Given the description of an element on the screen output the (x, y) to click on. 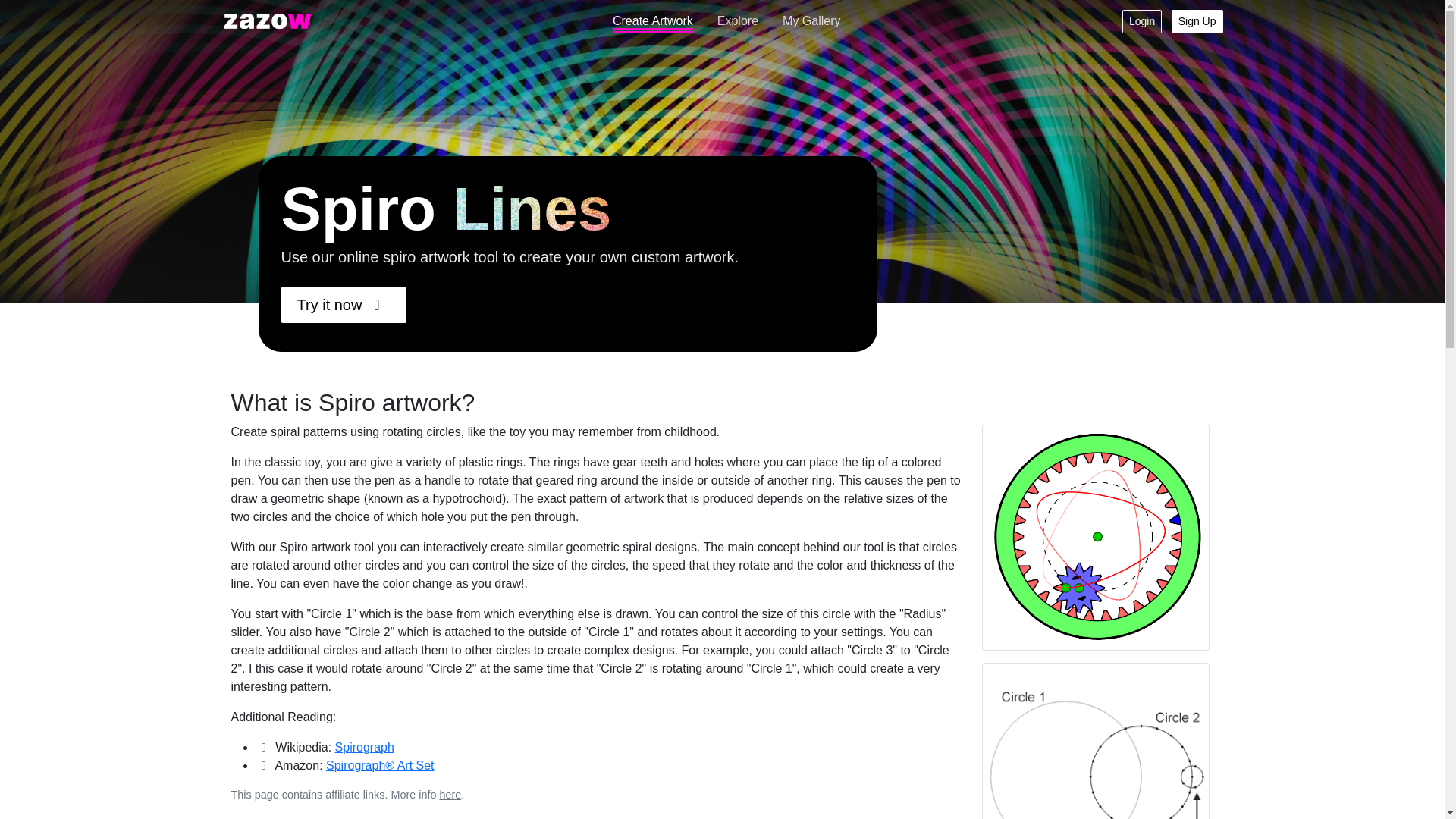
Explore (737, 20)
Try it now (343, 304)
My Gallery (810, 20)
Sign Up (1197, 20)
Spirograph (364, 747)
here (450, 794)
Login (1141, 20)
Create Artwork (651, 20)
